Given the description of an element on the screen output the (x, y) to click on. 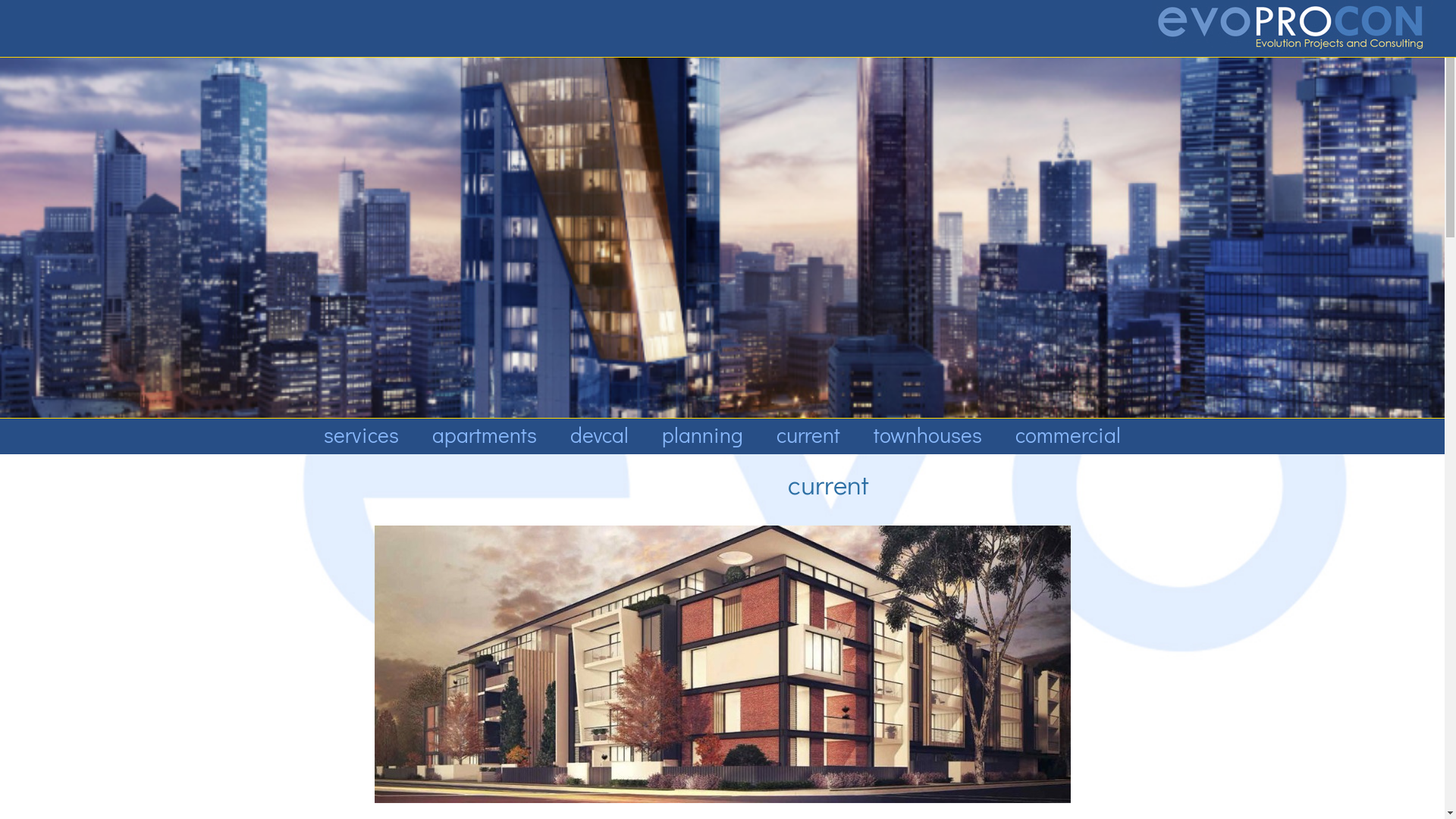
townhouses Element type: text (927, 434)
devcal Element type: text (599, 434)
planning Element type: text (702, 434)
current Element type: text (808, 434)
commercial Element type: text (1067, 434)
apartments Element type: text (484, 434)
services Element type: text (361, 434)
